Given the description of an element on the screen output the (x, y) to click on. 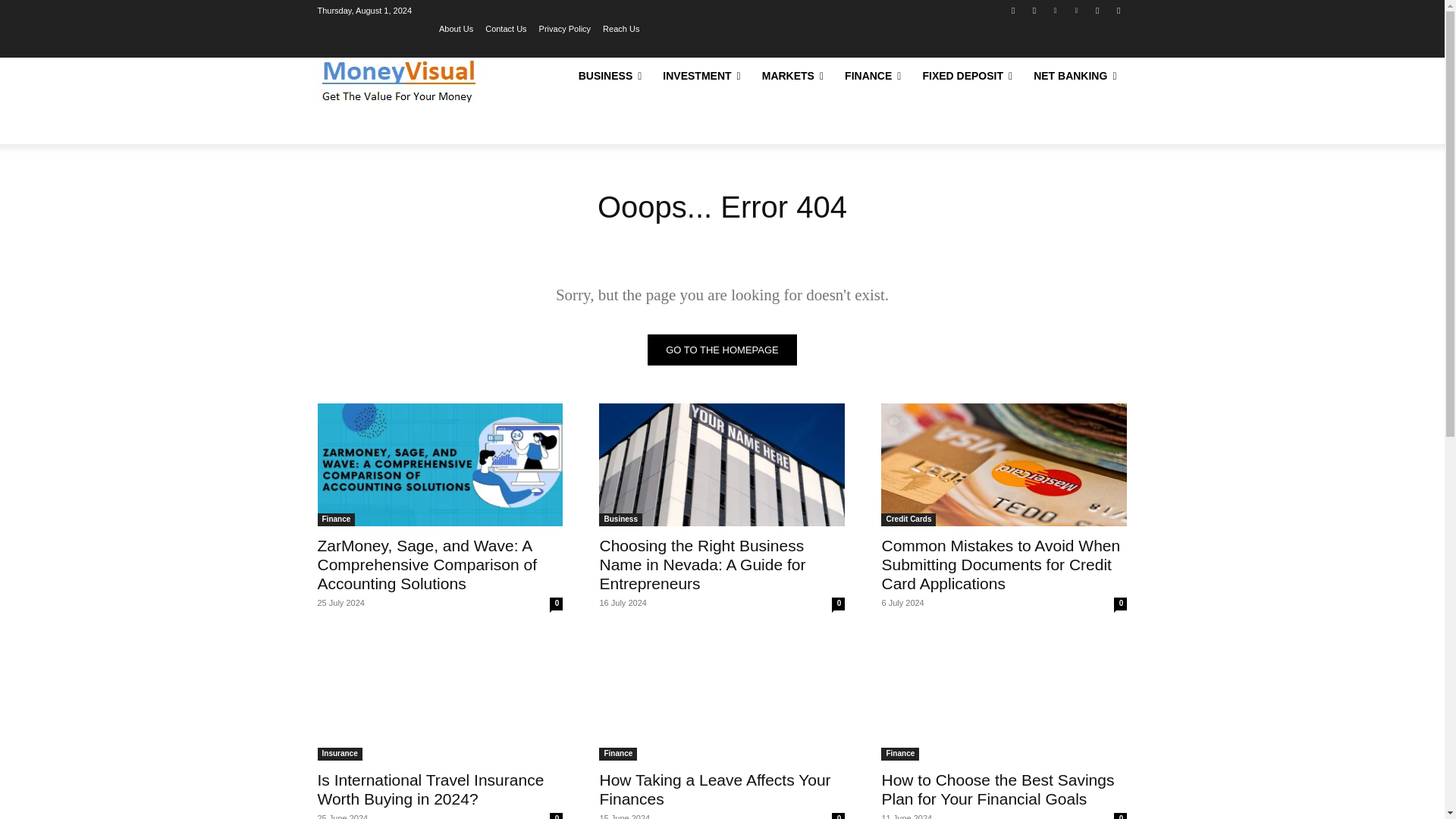
Is International Travel Insurance Worth Buying in 2024? (430, 789)
How Taking a Leave Affects Your Finances (713, 789)
Youtube (1117, 9)
Go to the homepage (721, 349)
Twitter (1097, 9)
How to Choose the Best Savings Plan for Your Financial Goals (1003, 699)
Linkedin (1055, 9)
About Us (456, 28)
Is International Travel Insurance Worth Buying in 2024? (439, 699)
Pinterest (1075, 9)
Facebook (1013, 9)
